Given the description of an element on the screen output the (x, y) to click on. 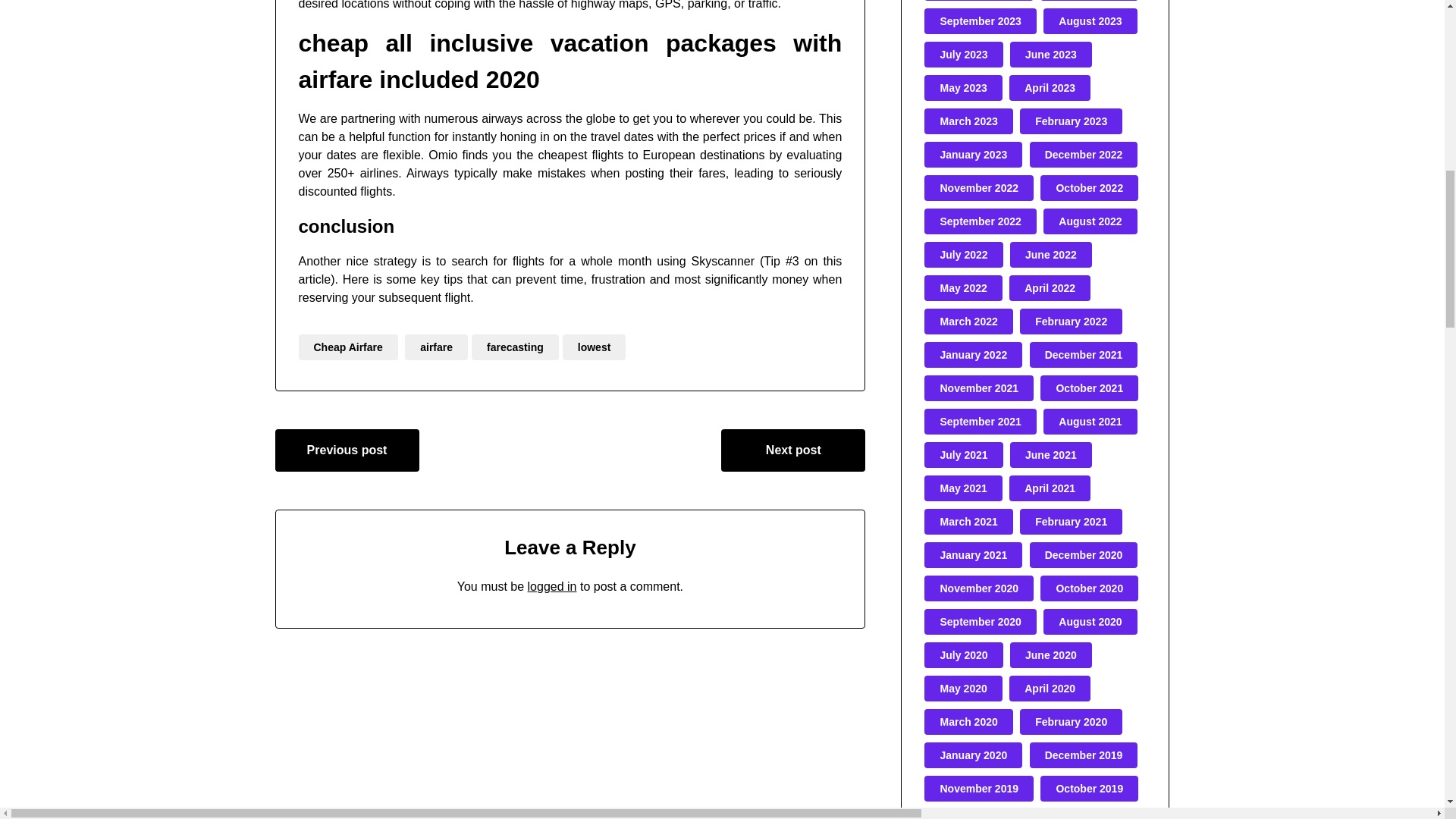
airfare (435, 347)
Cheap Airfare (347, 347)
